Given the description of an element on the screen output the (x, y) to click on. 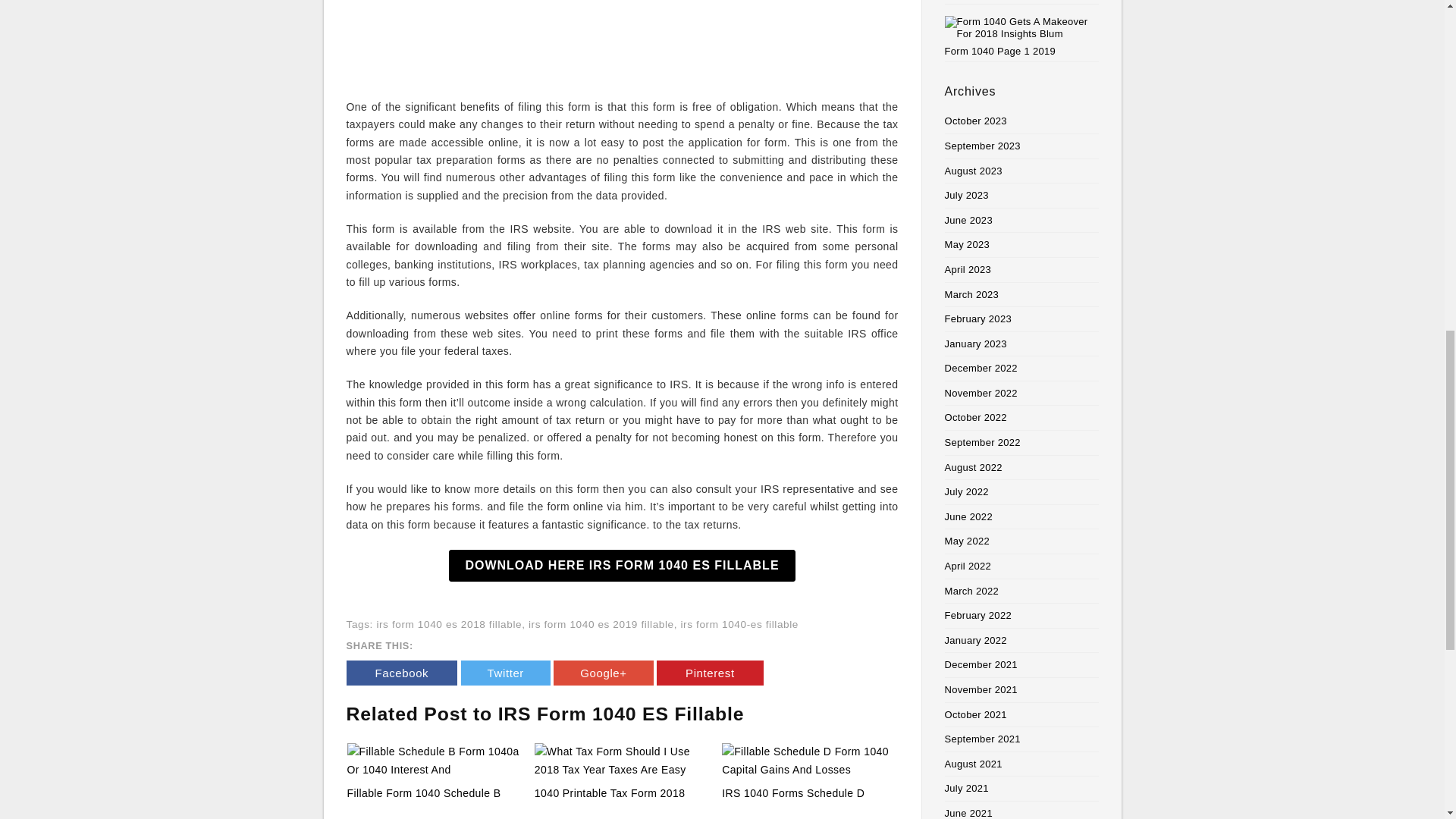
irs form 1040 es download fillable pdf 2018 estimated tax 1 (623, 41)
irs form 1040 es 2019 fillable (601, 624)
1040 Printable Tax Form 2018 (622, 760)
Fillable Form 1040 Schedule B (423, 793)
Facebook (401, 672)
IRS 1040 Forms Schedule D (809, 760)
IRS 1040 Forms Schedule D (793, 793)
irs form 1040 es 2018 fillable (448, 624)
IRS 1040 Forms Schedule D (793, 793)
Fillable Form 1040 Schedule B (423, 793)
DOWNLOAD HERE IRS FORM 1040 ES FILLABLE (621, 565)
irs form 1040-es fillable (740, 624)
Fillable Form 1040 Schedule B (434, 760)
1040 Printable Tax Form 2018 (609, 793)
Pinterest (709, 672)
